Given the description of an element on the screen output the (x, y) to click on. 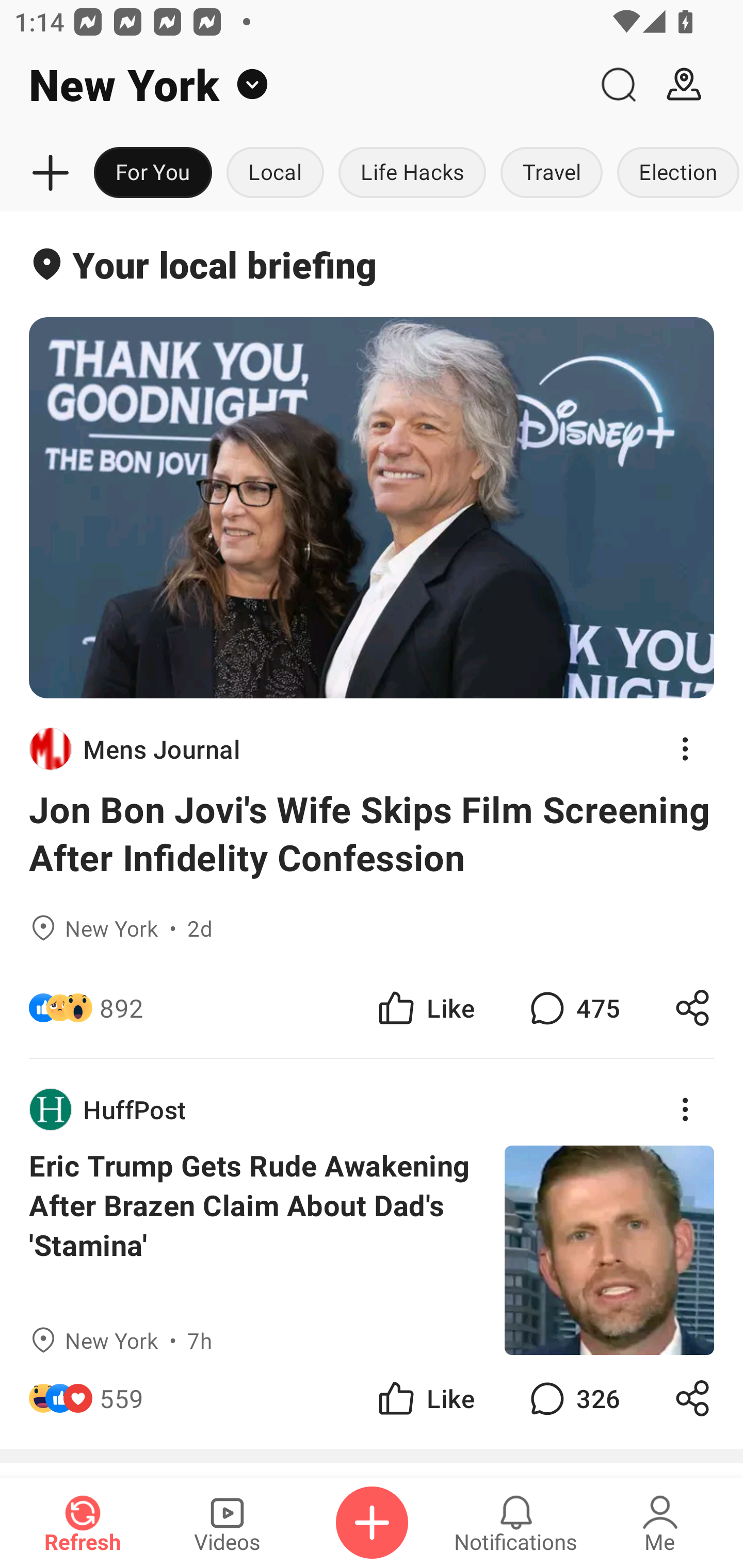
New York (292, 84)
For You (152, 172)
Local (275, 172)
Life Hacks (412, 172)
Travel (551, 172)
Election (676, 172)
892 (121, 1007)
Like (425, 1007)
475 (572, 1007)
559 (121, 1397)
Like (425, 1397)
326 (572, 1397)
Videos (227, 1522)
Notifications (516, 1522)
Me (659, 1522)
